Given the description of an element on the screen output the (x, y) to click on. 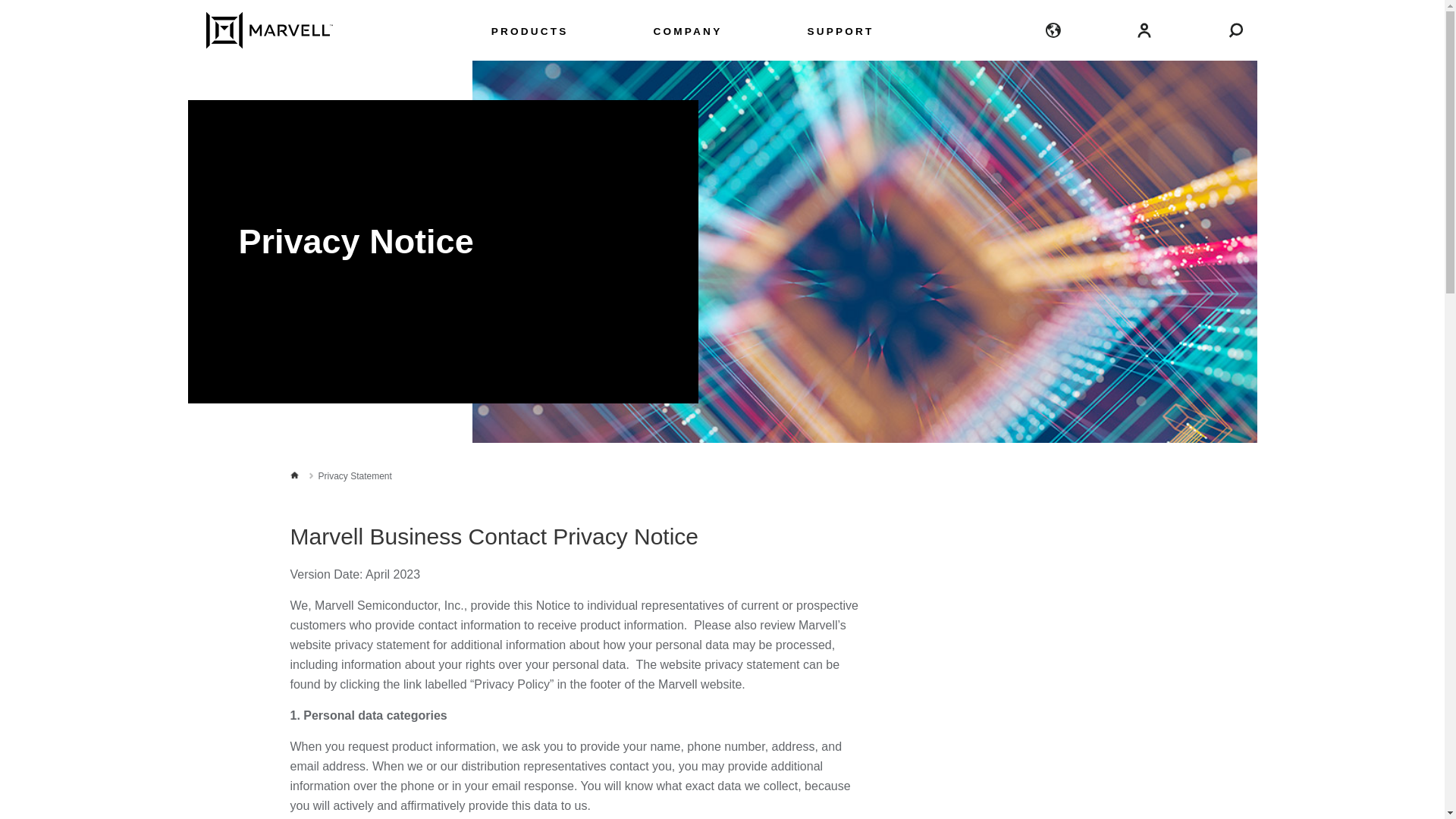
SUPPORT (839, 35)
Skip to content (164, 15)
PRODUCTS (530, 35)
Login link (1145, 29)
COMPANY (687, 35)
search icon (1235, 29)
